Given the description of an element on the screen output the (x, y) to click on. 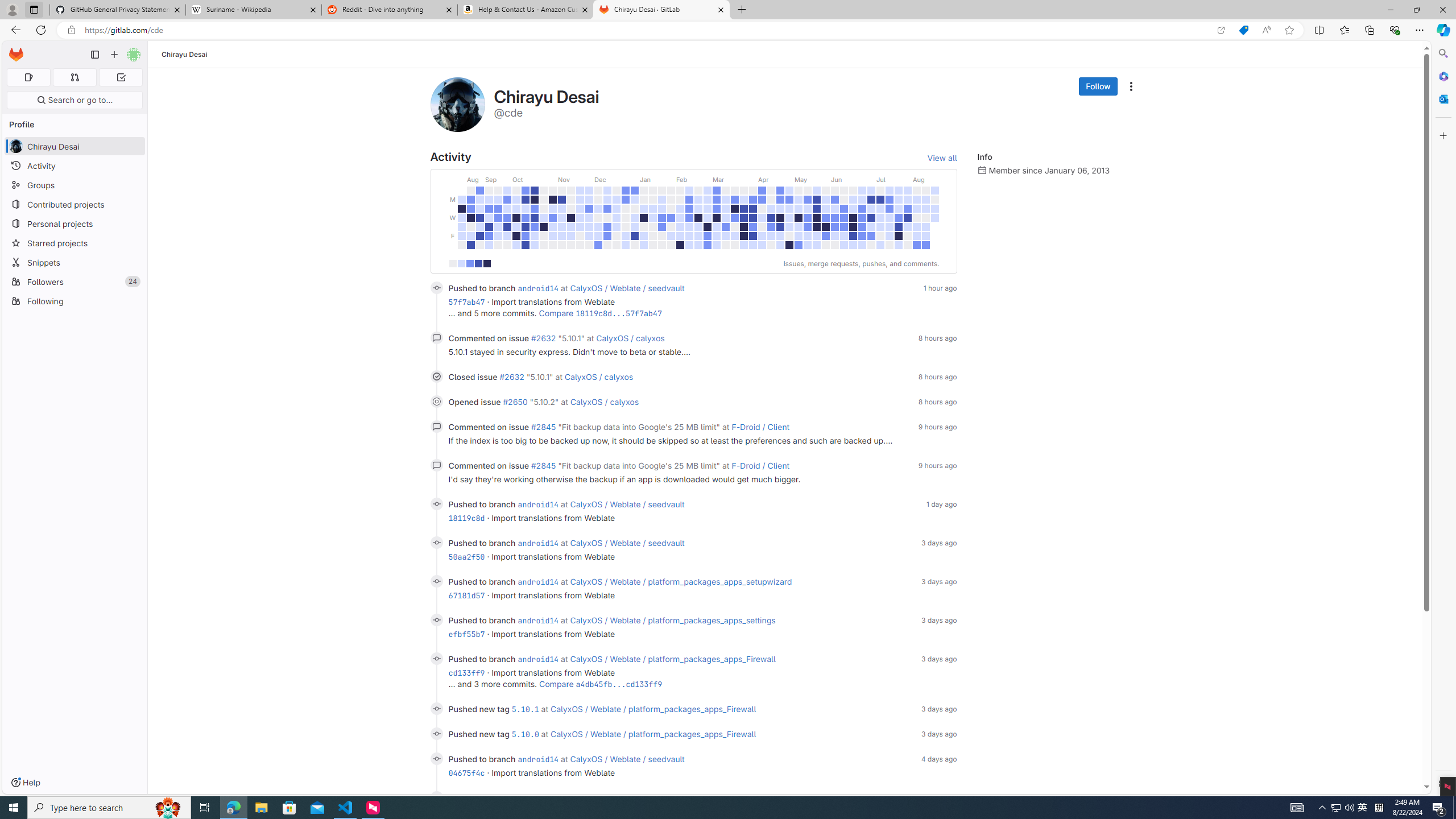
avatar Chirayu Desai (74, 145)
Starred projects (74, 242)
Suriname - Wikipedia (253, 9)
